Given the description of an element on the screen output the (x, y) to click on. 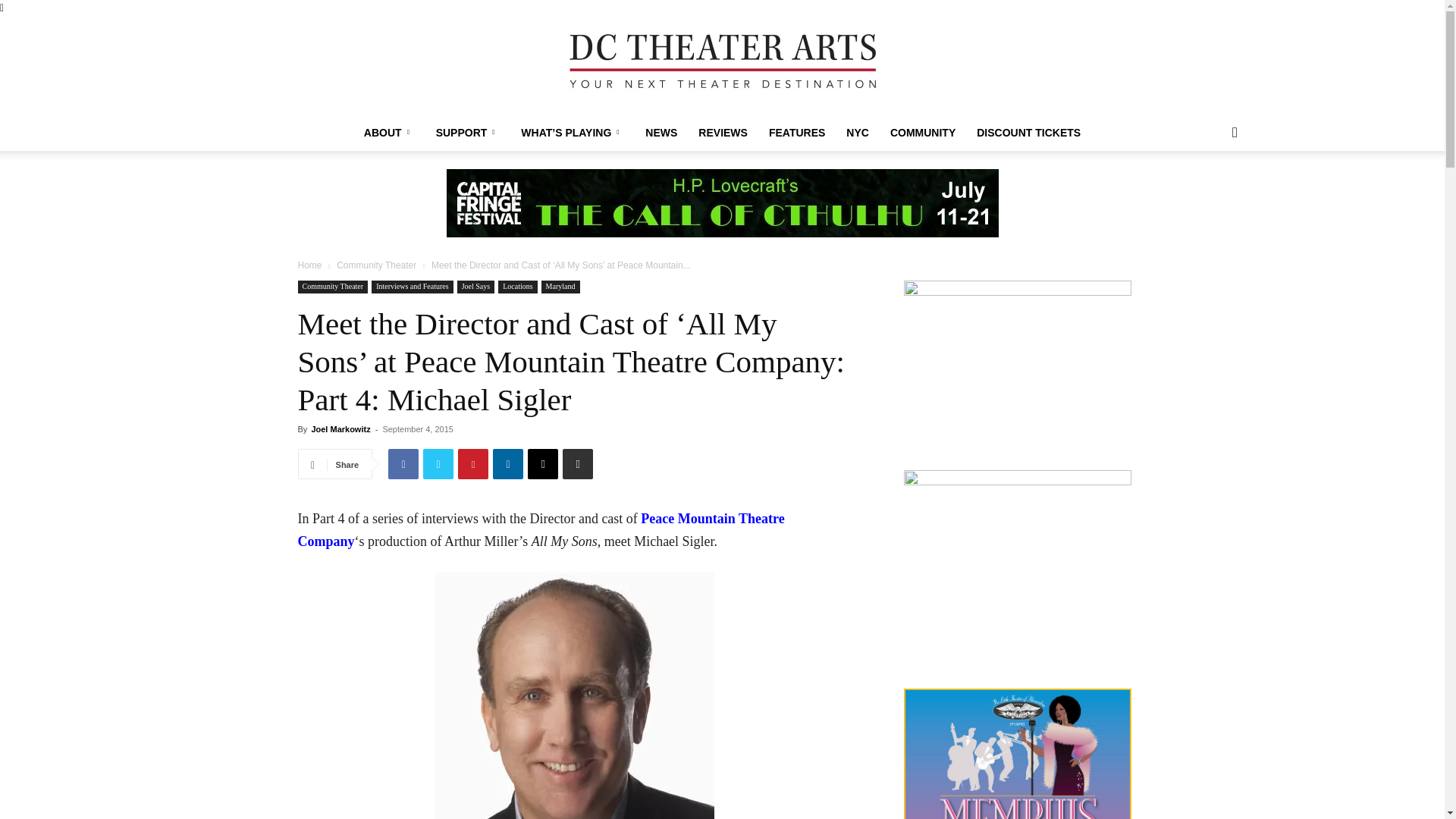
Print (577, 463)
ABOUT (389, 132)
Pinterest (472, 463)
Twitter (437, 463)
View all posts in Community Theater (376, 265)
SUPPORT (468, 132)
Linkedin (507, 463)
REVIEWS (722, 132)
Email (542, 463)
Facebook (403, 463)
NEWS (660, 132)
